Given the description of an element on the screen output the (x, y) to click on. 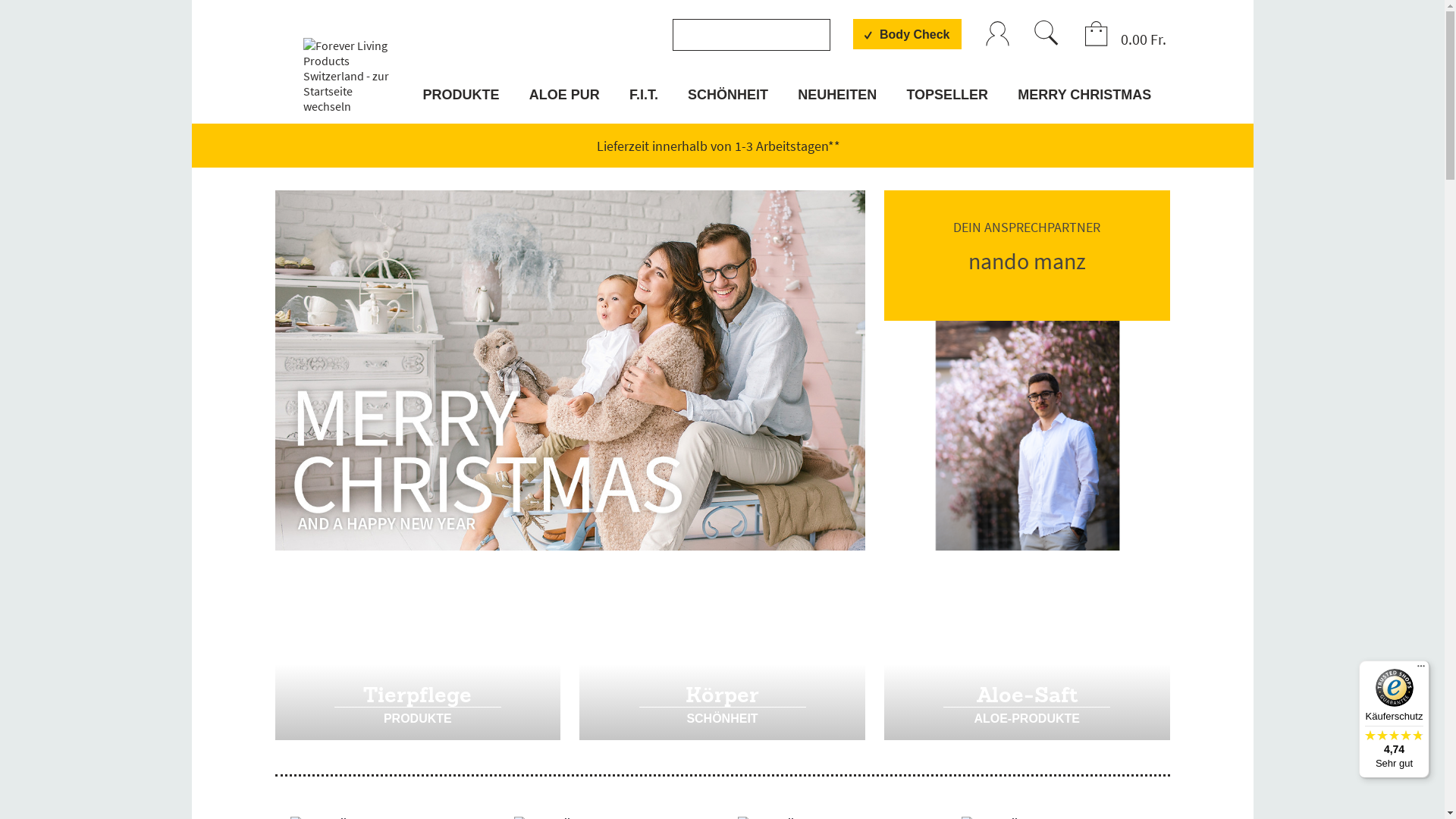
MERRY CHRISTMAS Element type: text (1082, 104)
Mein Konto Element type: hover (997, 34)
nando.manz@icloud.com Element type: text (1051, 415)
ALOE PUR Element type: text (564, 104)
Deine Suche ... Element type: hover (1045, 33)
Body Check Element type: text (906, 33)
PRODUKTE Element type: text (463, 104)
NEUHEITEN Element type: text (836, 104)
Aloe-Saft
ALOE-PRODUKTE Element type: text (1027, 654)
TOPSELLER Element type: text (946, 104)
F.I.T. Element type: text (643, 104)
Warenkorb Element type: hover (1095, 34)
Tierpflege
PRODUKTE Element type: text (417, 654)
